Given the description of an element on the screen output the (x, y) to click on. 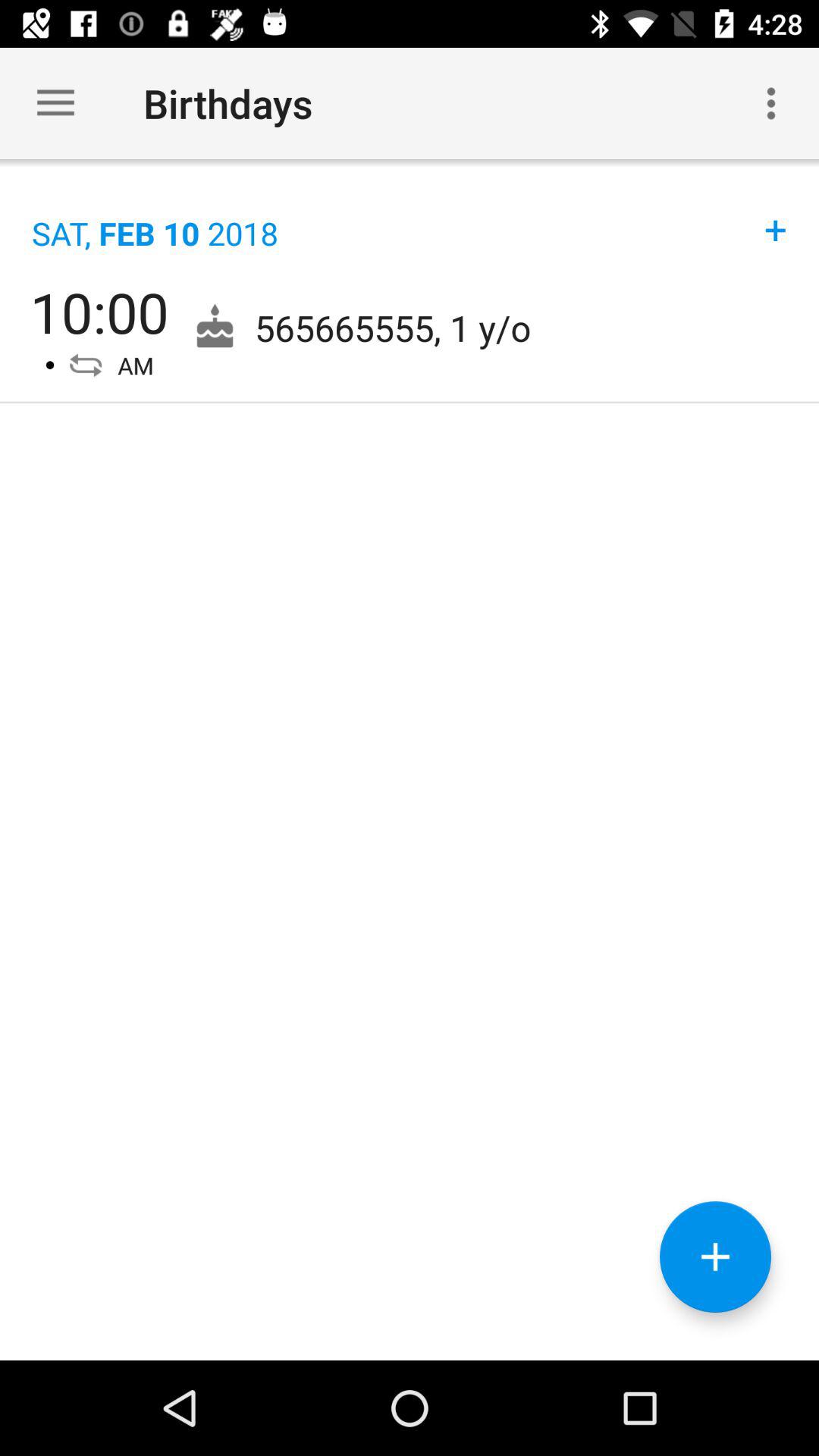
click item below 565665555 1 y item (715, 1256)
